Given the description of an element on the screen output the (x, y) to click on. 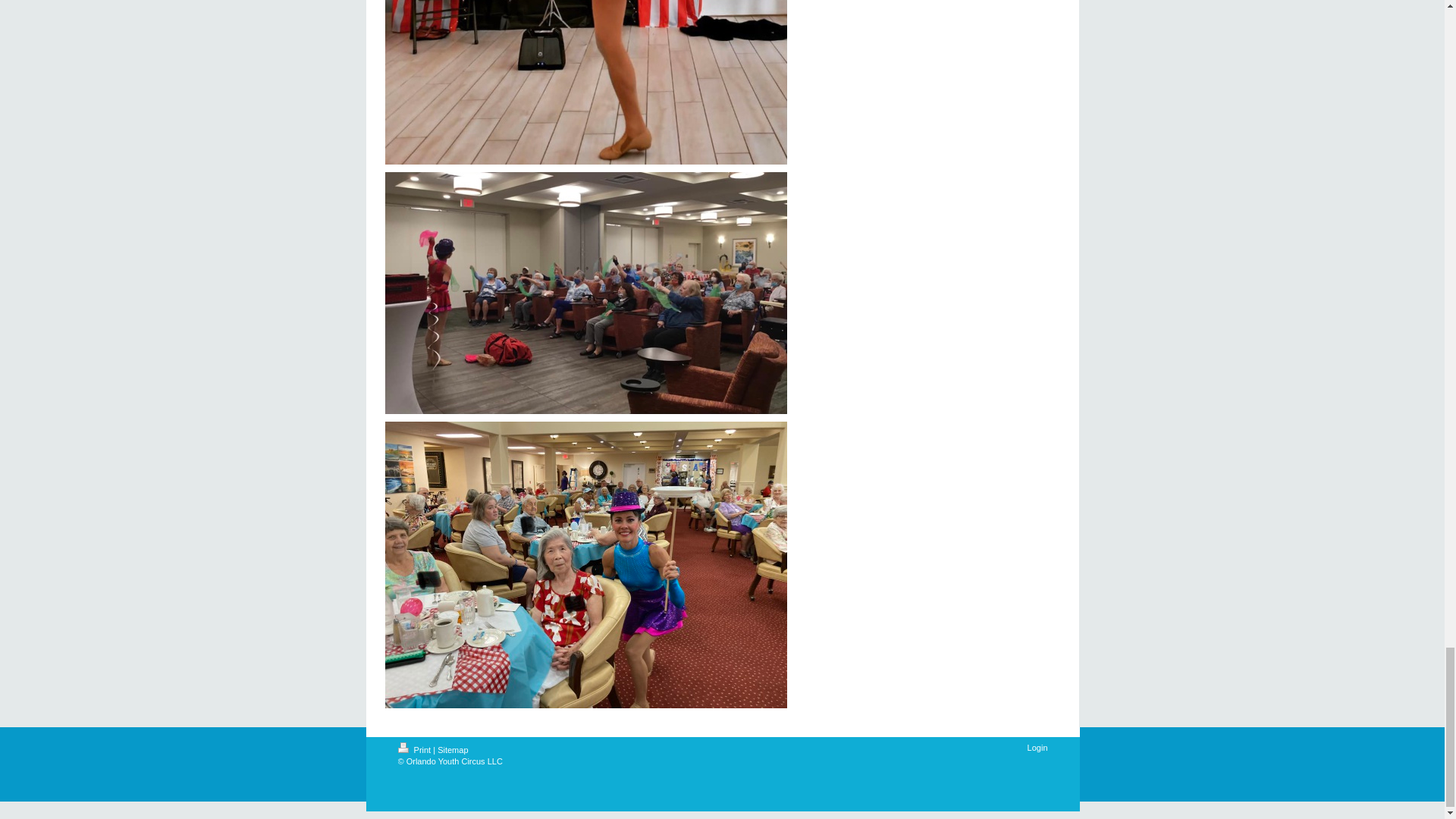
Sitemap (452, 749)
Login (1037, 747)
Print (414, 749)
